Given the description of an element on the screen output the (x, y) to click on. 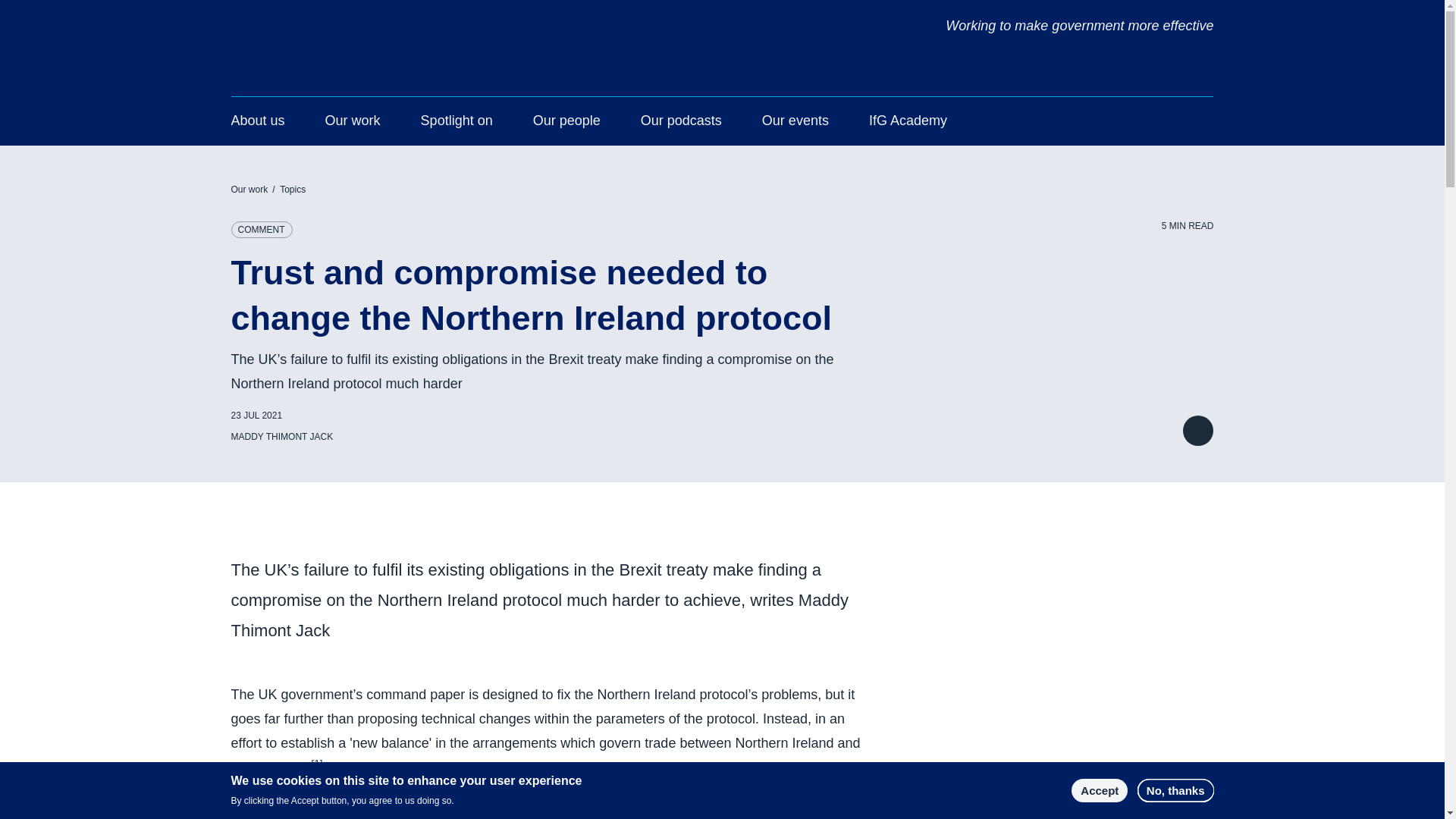
Return to the homepage (321, 29)
About us (256, 122)
Our work (352, 122)
